Given the description of an element on the screen output the (x, y) to click on. 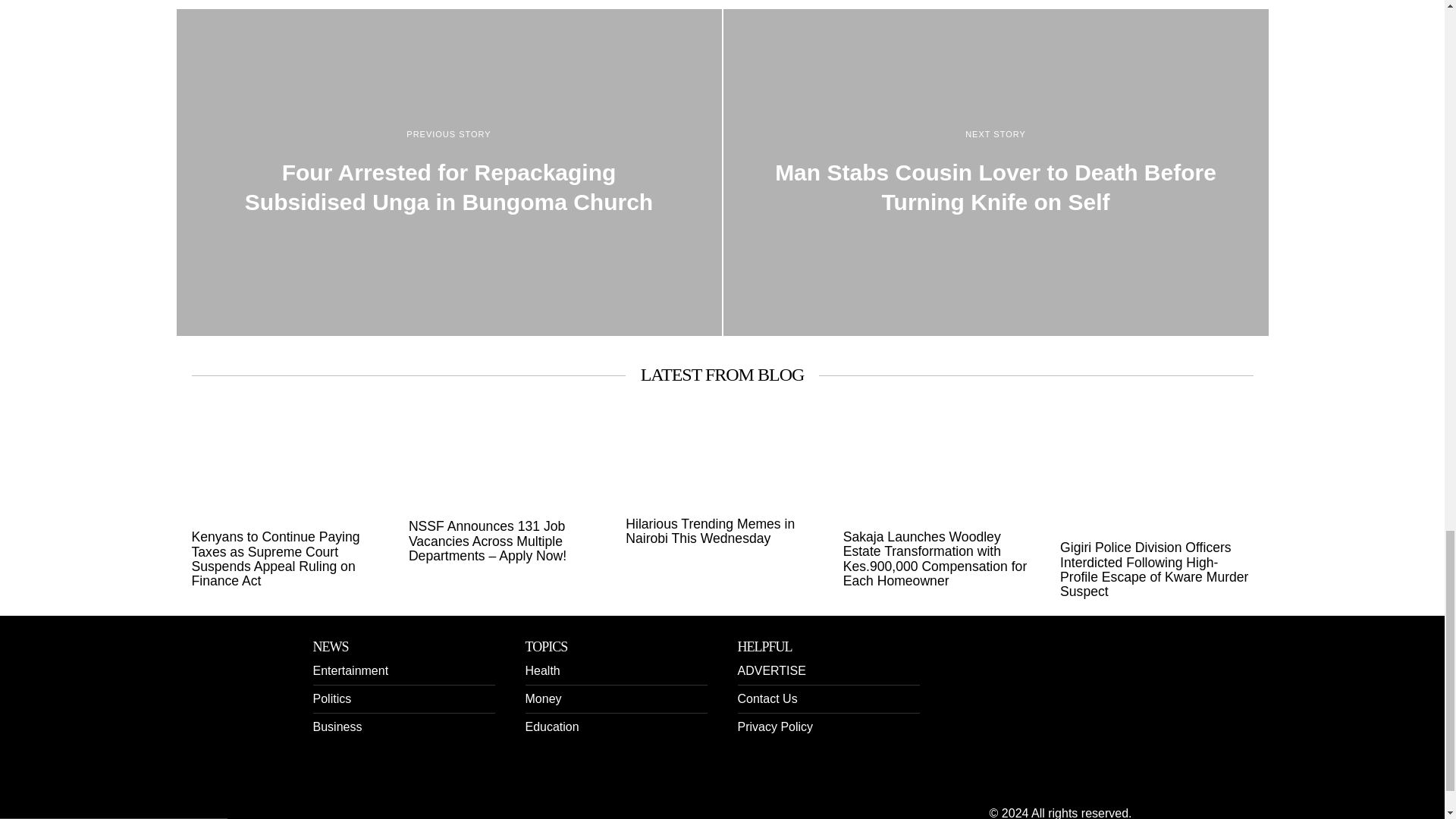
Business (337, 726)
Entertainment (350, 670)
Hilarious Trending Memes in Nairobi This Wednesday (722, 531)
Politics (331, 698)
Health (541, 670)
